Given the description of an element on the screen output the (x, y) to click on. 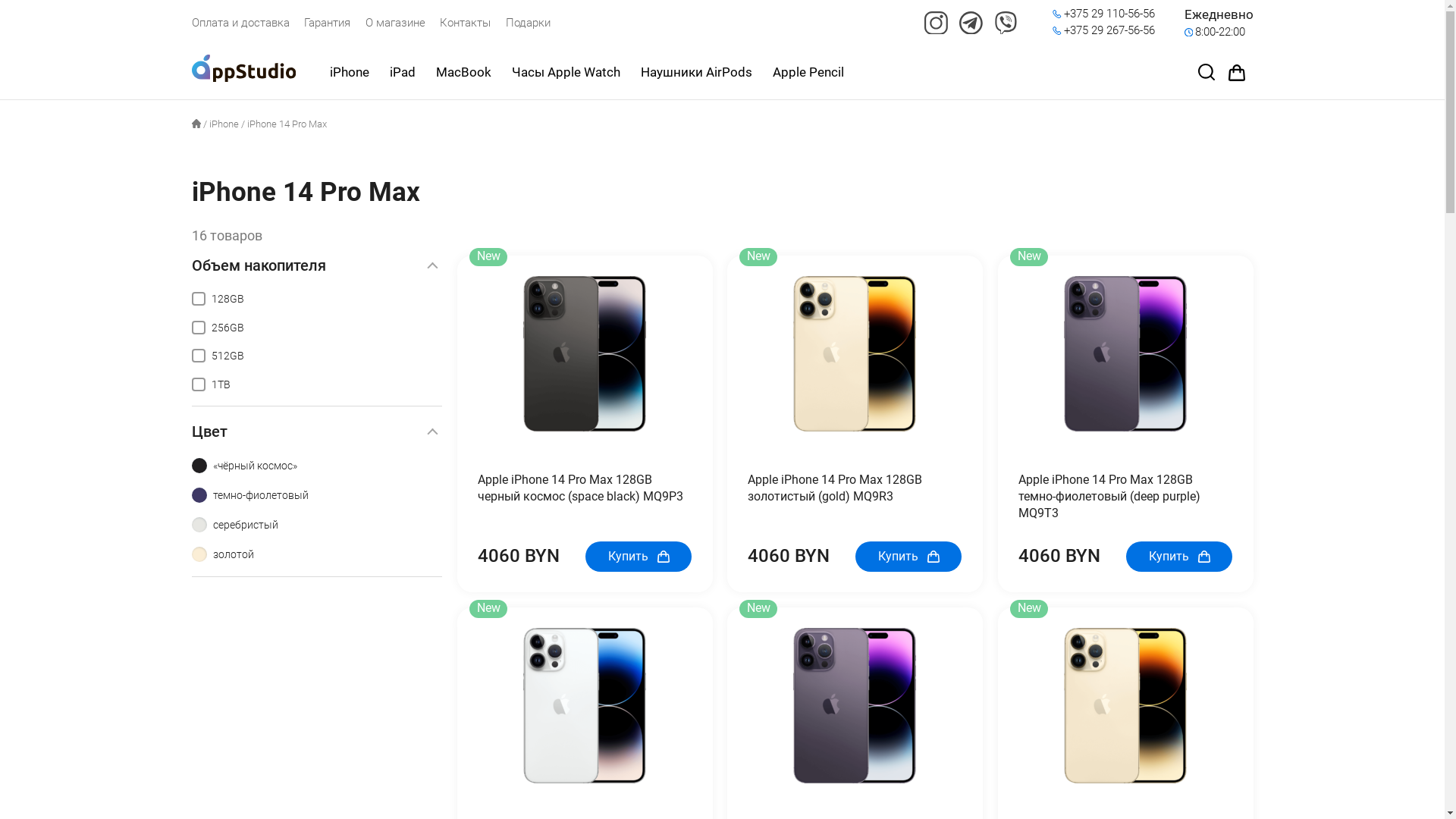
+375 29 110-56-56 Element type: text (1108, 14)
+375 29 267-56-56 Element type: text (1108, 30)
iPhone Element type: text (223, 124)
iPhone Element type: text (348, 71)
MacBook Element type: text (462, 71)
iPad Element type: text (402, 71)
Apple Pencil Element type: text (807, 71)
